Given the description of an element on the screen output the (x, y) to click on. 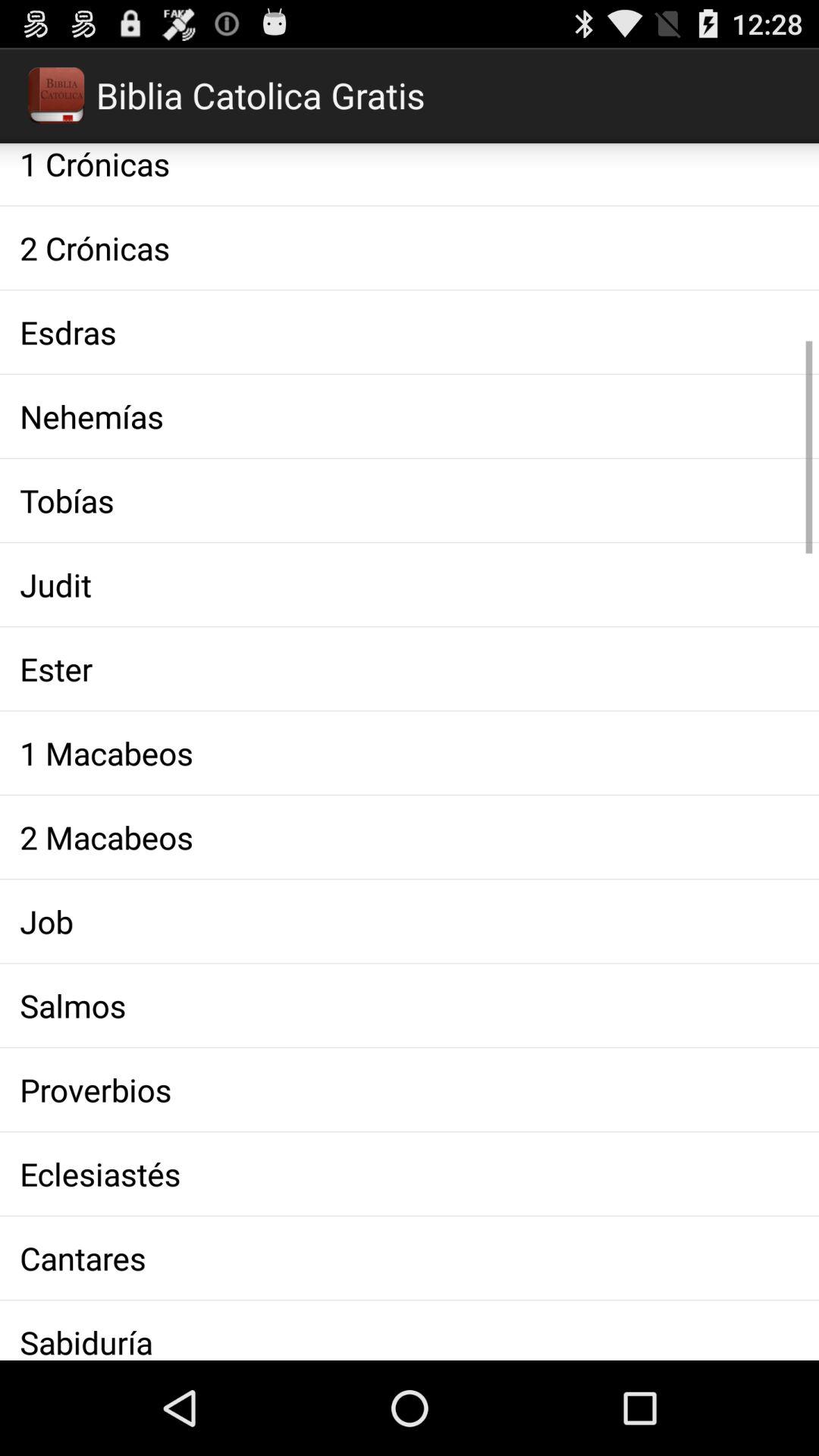
turn off the ester (409, 668)
